Given the description of an element on the screen output the (x, y) to click on. 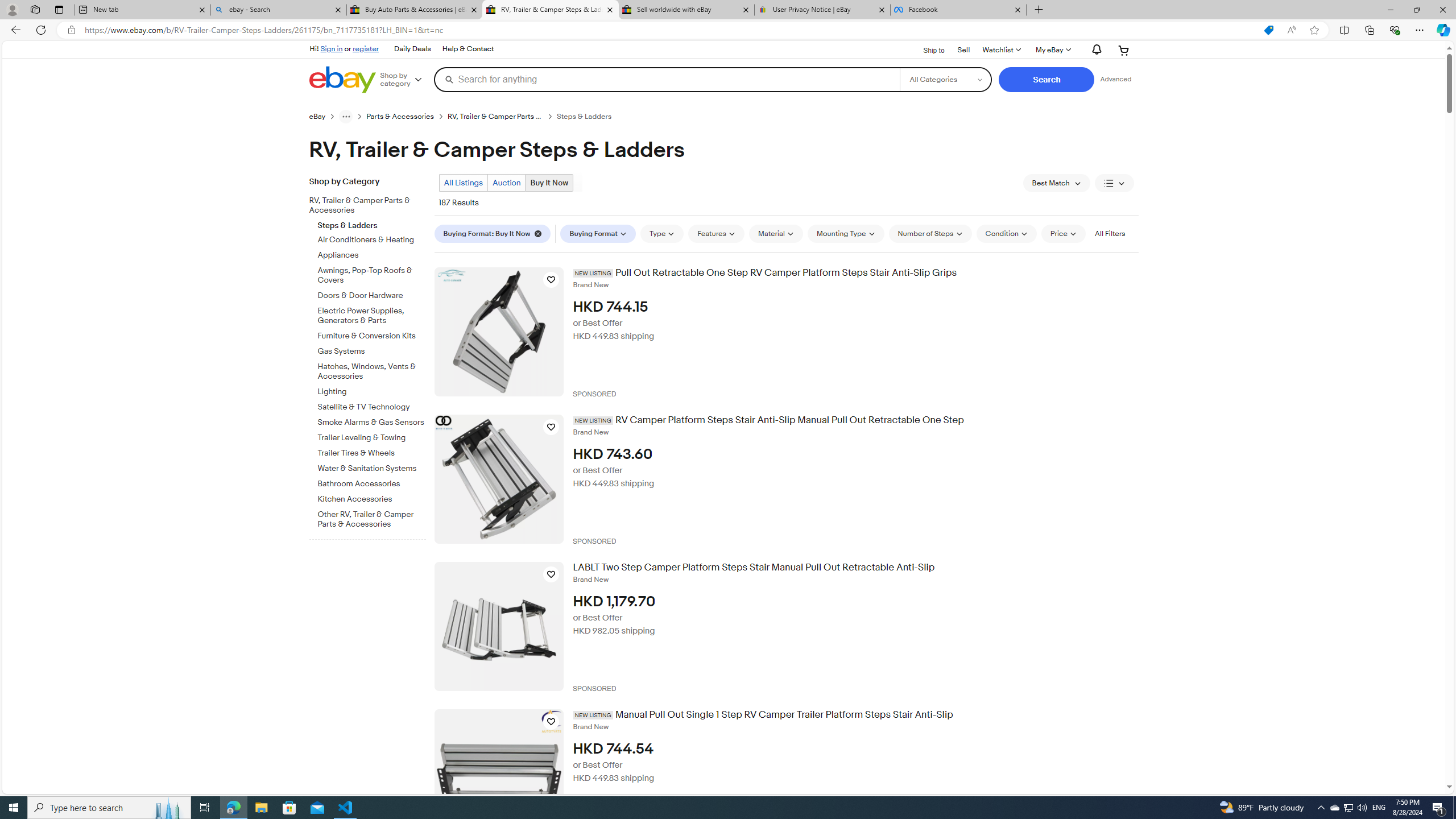
Trailer Leveling & Towing (371, 435)
Ship to (926, 49)
Search (1046, 79)
Trailer Tires & Wheels (371, 450)
Steps & Ladders (371, 223)
eBay (317, 116)
Material (775, 233)
Type (662, 233)
RV, Trailer & Camper Steps & Ladders for sale | eBay (550, 9)
Price (1063, 233)
Ship to (926, 50)
Lighting (371, 389)
